Given the description of an element on the screen output the (x, y) to click on. 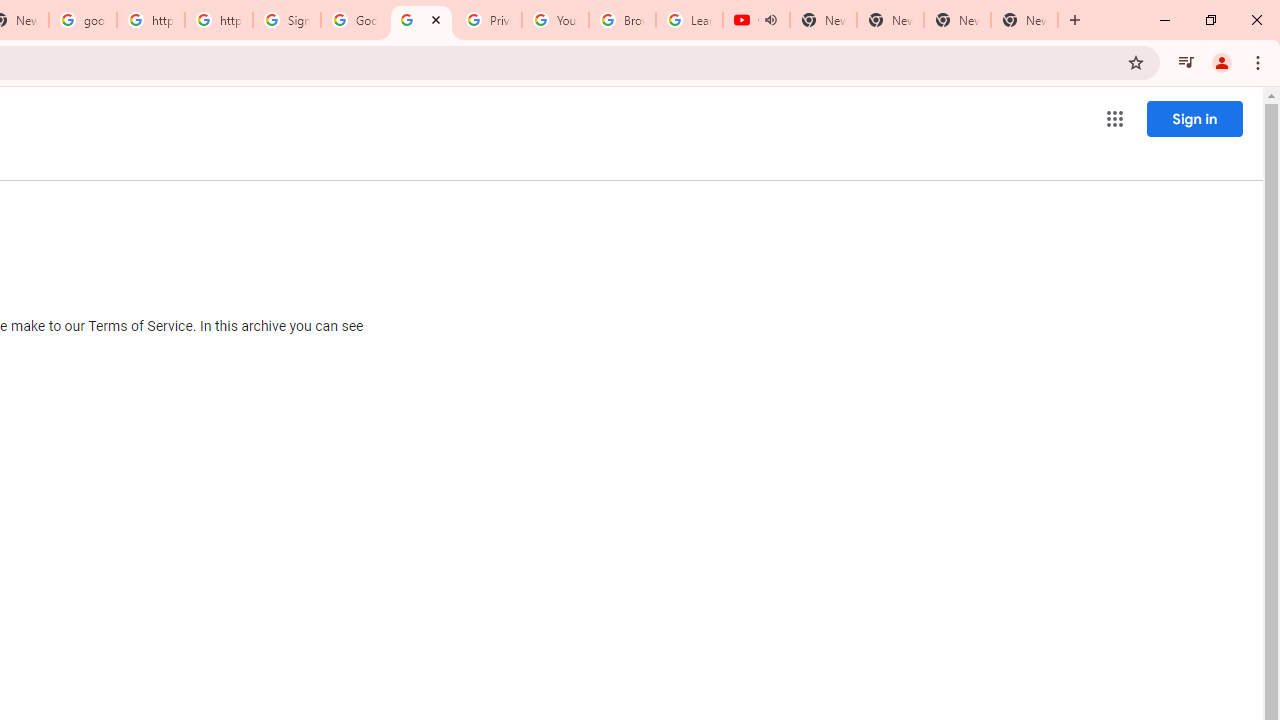
New Tab (1024, 20)
https://scholar.google.com/ (219, 20)
https://scholar.google.com/ (150, 20)
